Given the description of an element on the screen output the (x, y) to click on. 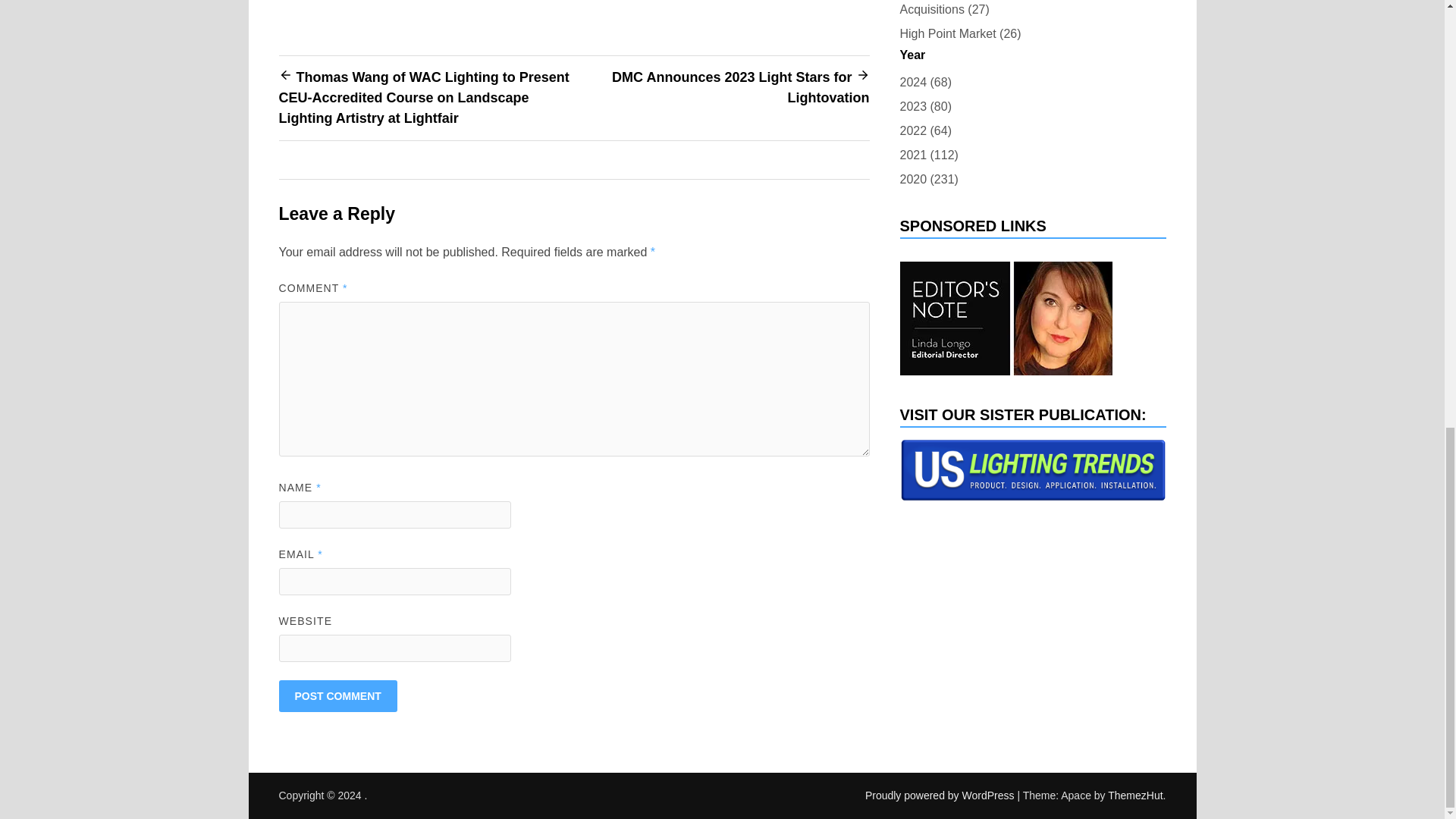
Post Comment (338, 695)
DMC Announces 2023 Light Stars for Lightovation (740, 87)
Post Comment (338, 695)
